Given the description of an element on the screen output the (x, y) to click on. 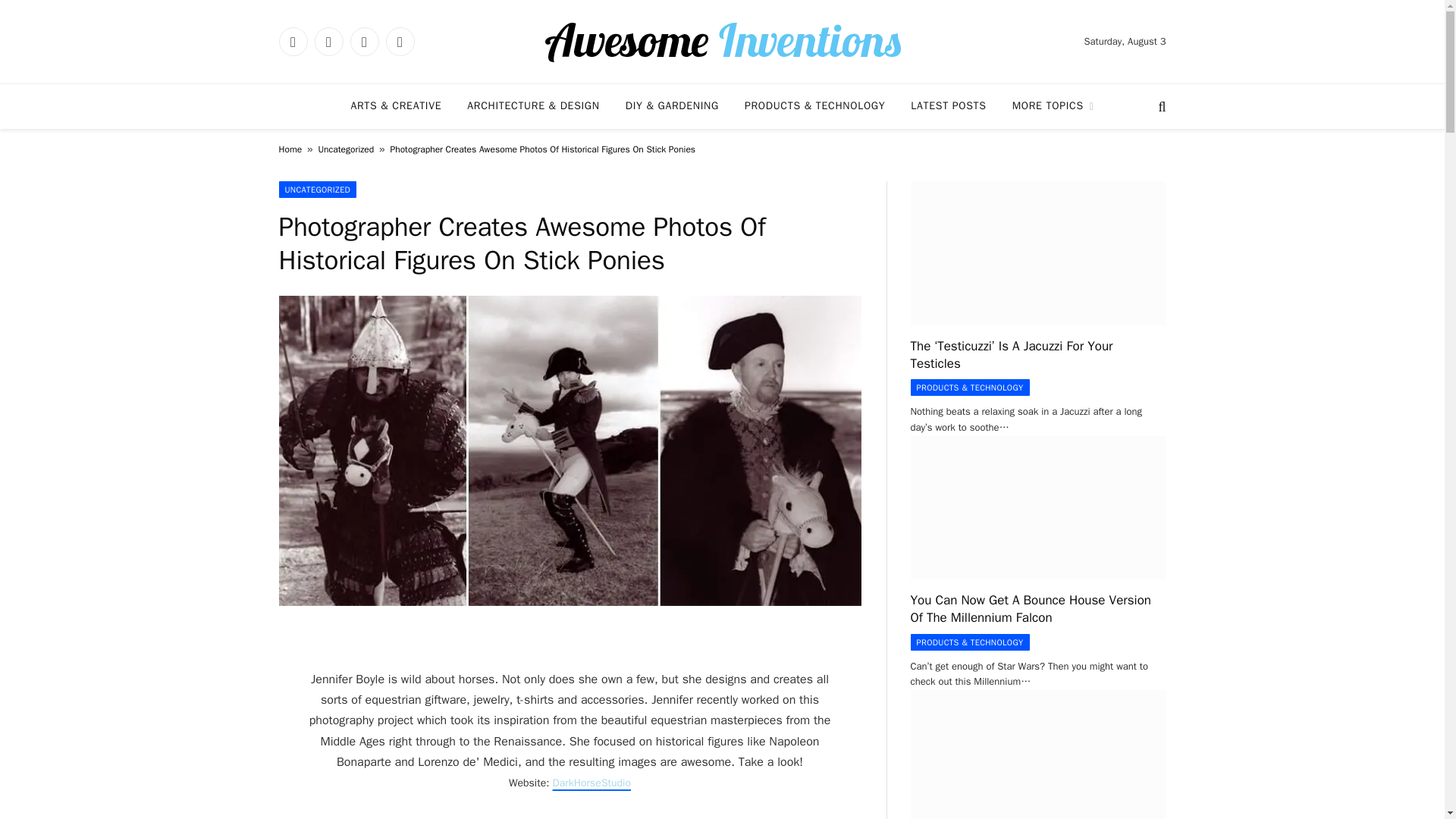
Instagram (364, 41)
Latest Posts (948, 106)
Facebook (293, 41)
MORE TOPICS (1052, 106)
DarkHorseStudio (591, 782)
UNCATEGORIZED (317, 189)
Home (290, 149)
Uncategorized (345, 149)
LATEST POSTS (948, 106)
Pinterest (399, 41)
Awesome Inventions (721, 41)
